Given the description of an element on the screen output the (x, y) to click on. 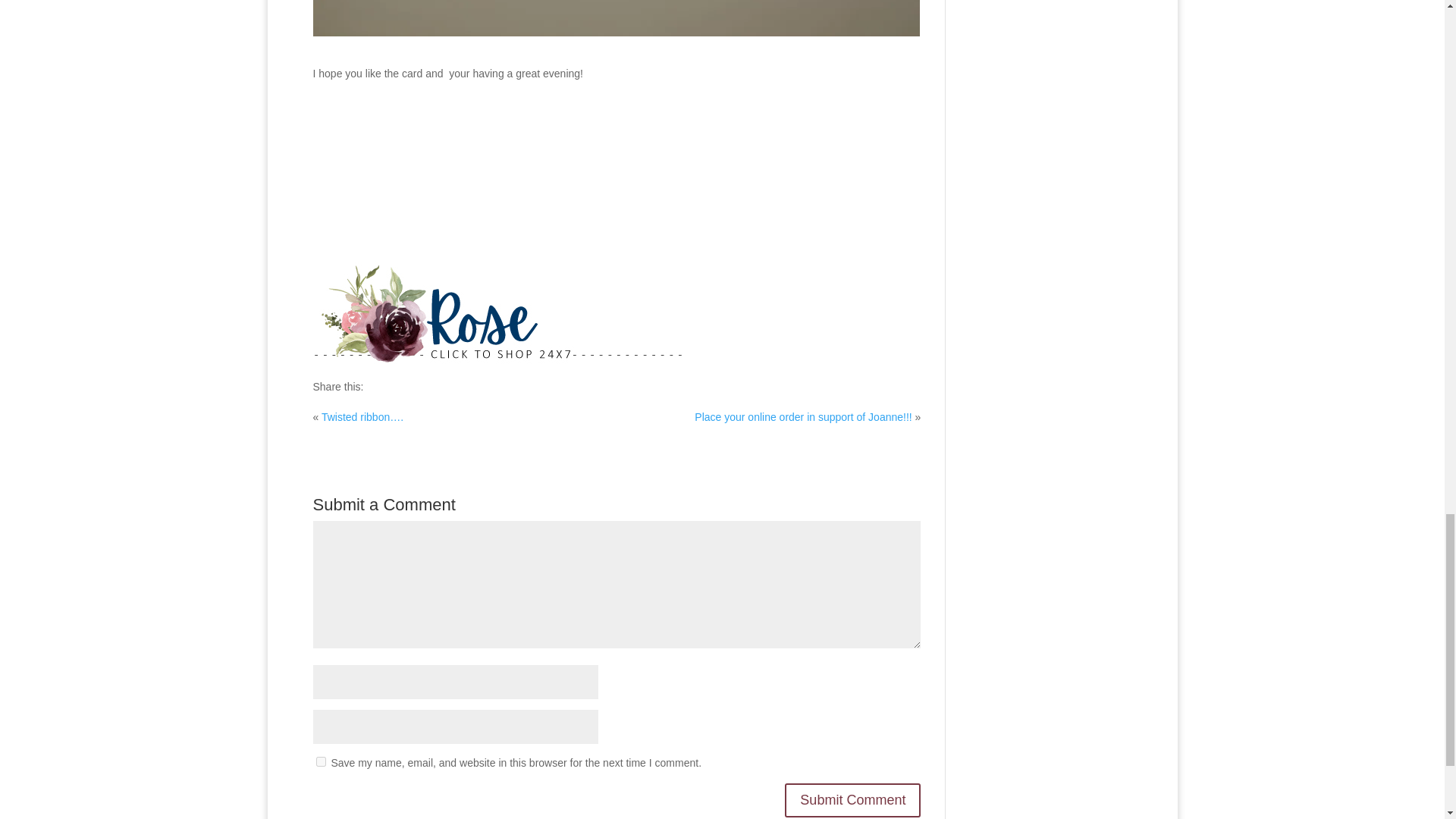
Submit Comment (852, 799)
yes (319, 761)
Submit Comment (852, 799)
Place your online order in support of Joanne!!! (802, 417)
